Given the description of an element on the screen output the (x, y) to click on. 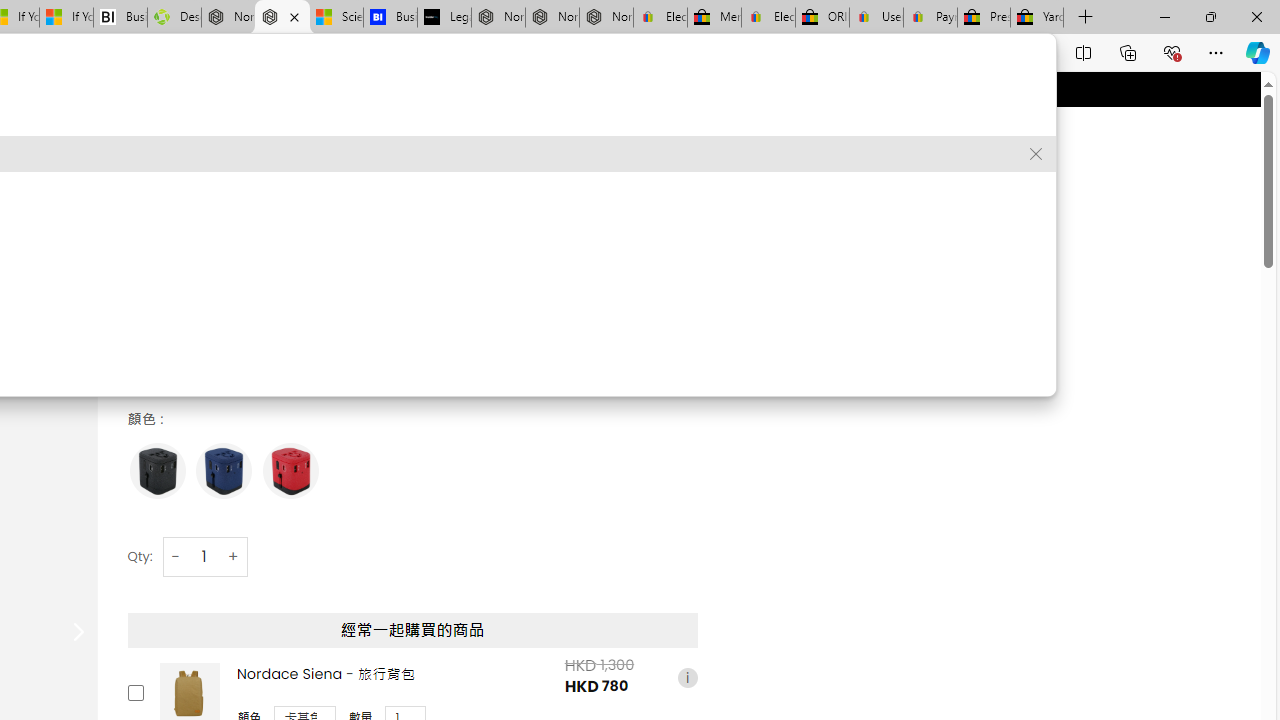
+ (234, 555)
 0  (679, 146)
  0   (679, 146)
Press Room - eBay Inc. (983, 17)
Yard, Garden & Outdoor Living (1037, 17)
Descarga Driver Updater (174, 17)
